Given the description of an element on the screen output the (x, y) to click on. 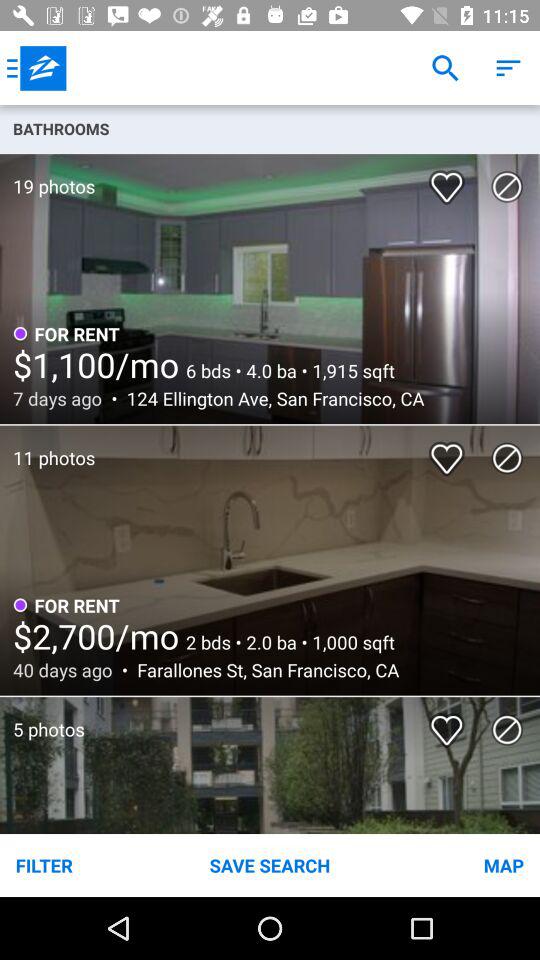
flip to the filter (90, 864)
